Given the description of an element on the screen output the (x, y) to click on. 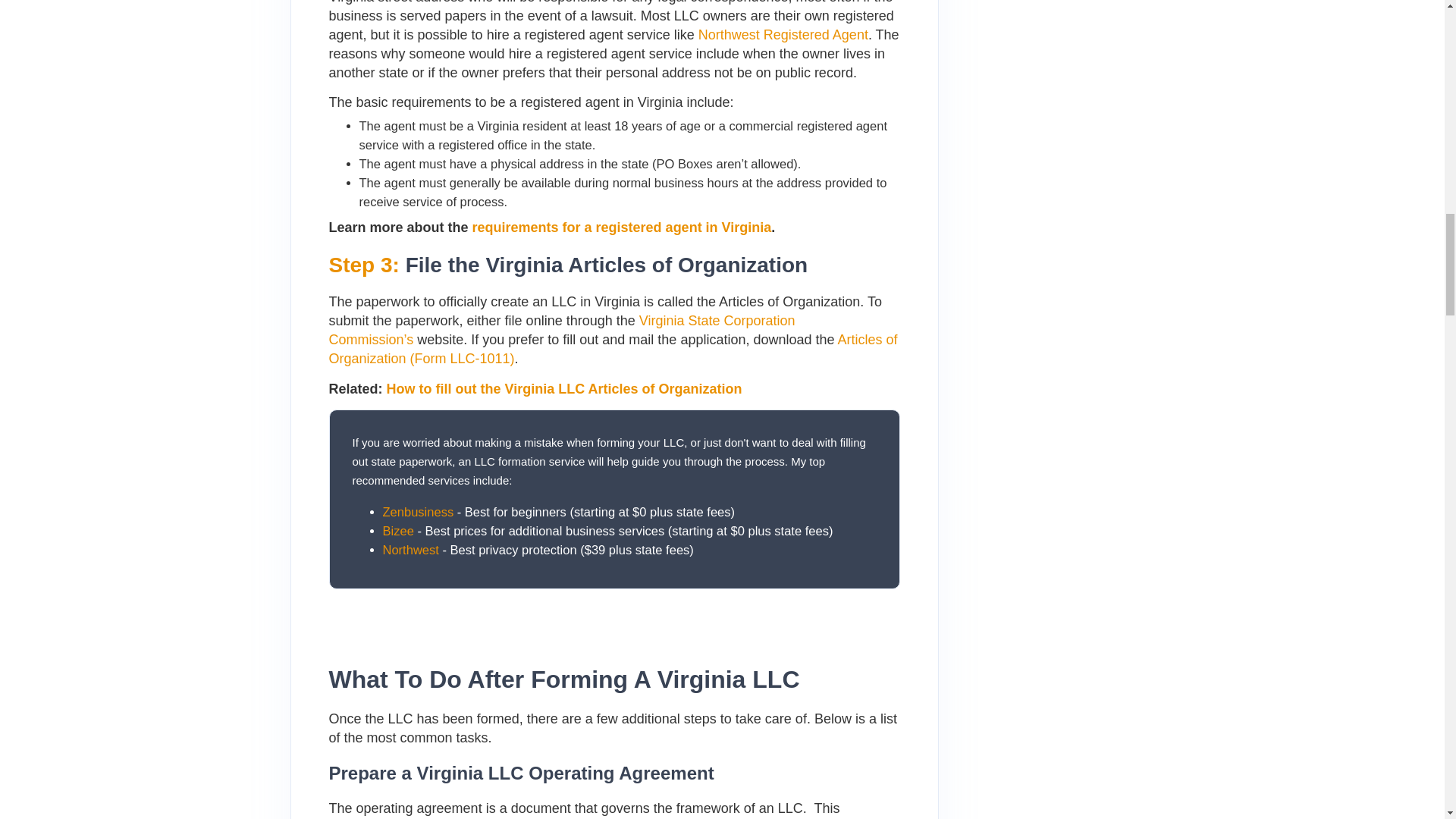
requirements for a registered agent in Virginia (621, 227)
Northwest Registered Agent (782, 34)
